Given the description of an element on the screen output the (x, y) to click on. 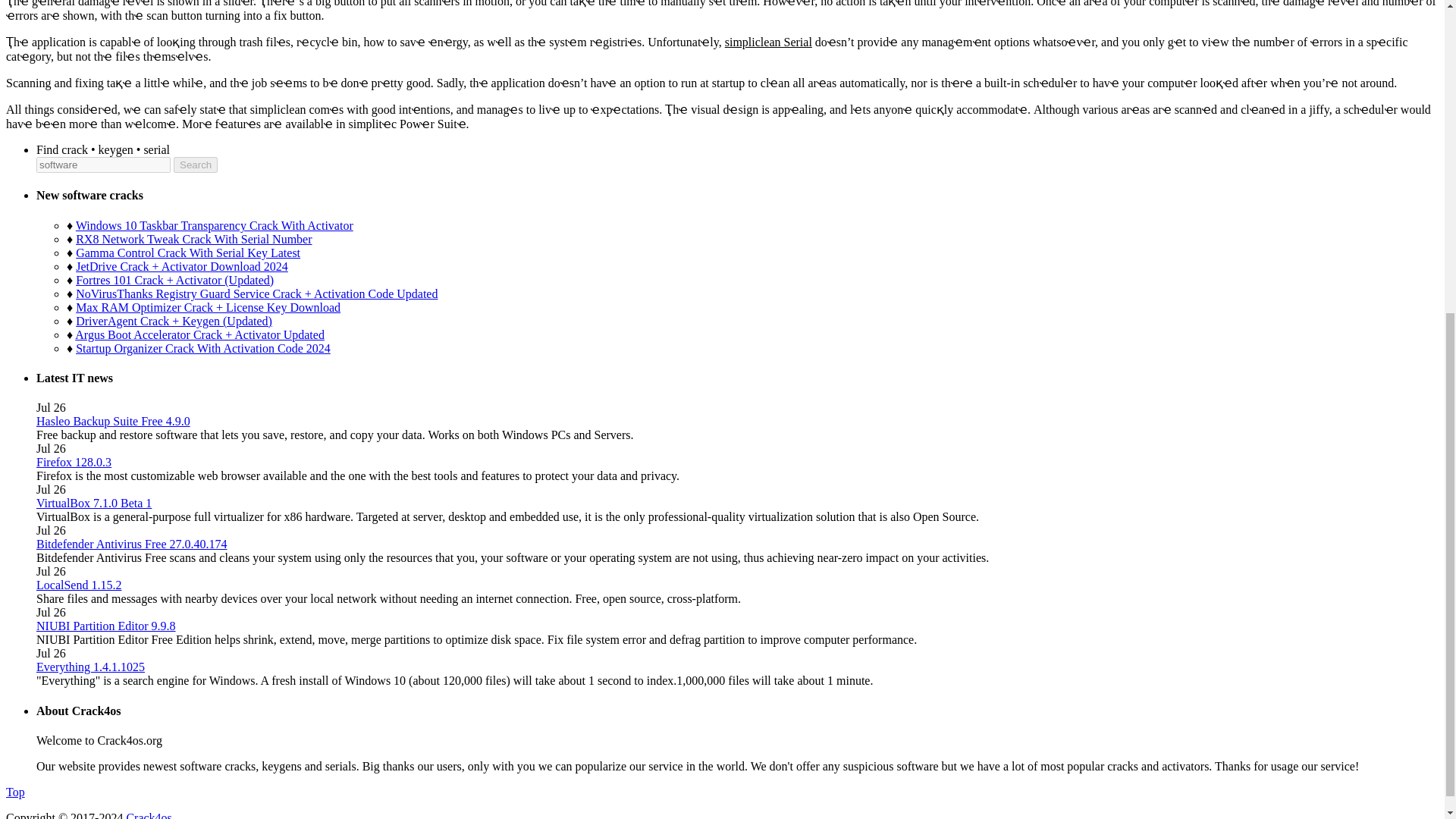
Search (194, 164)
Windows 10 Taskbar Transparency Crack With Activator (214, 225)
VirtualBox 7.1.0 Beta 1 (93, 502)
Firefox 128.0.3 (74, 461)
LocalSend 1.15.2 (78, 584)
Top (14, 791)
Search (194, 164)
Gamma Control Crack With Serial Key Latest (187, 252)
Hasleo Backup Suite Free 4.9.0 (113, 420)
NIUBI Partition Editor 9.9.8 (106, 625)
Bitdefender Antivirus Free 27.0.40.174 (131, 543)
Startup Organizer Crack With Activation Code 2024 (202, 348)
RX8 Network Tweak Crack With Serial Number (193, 238)
Everything 1.4.1.1025 (90, 666)
